Given the description of an element on the screen output the (x, y) to click on. 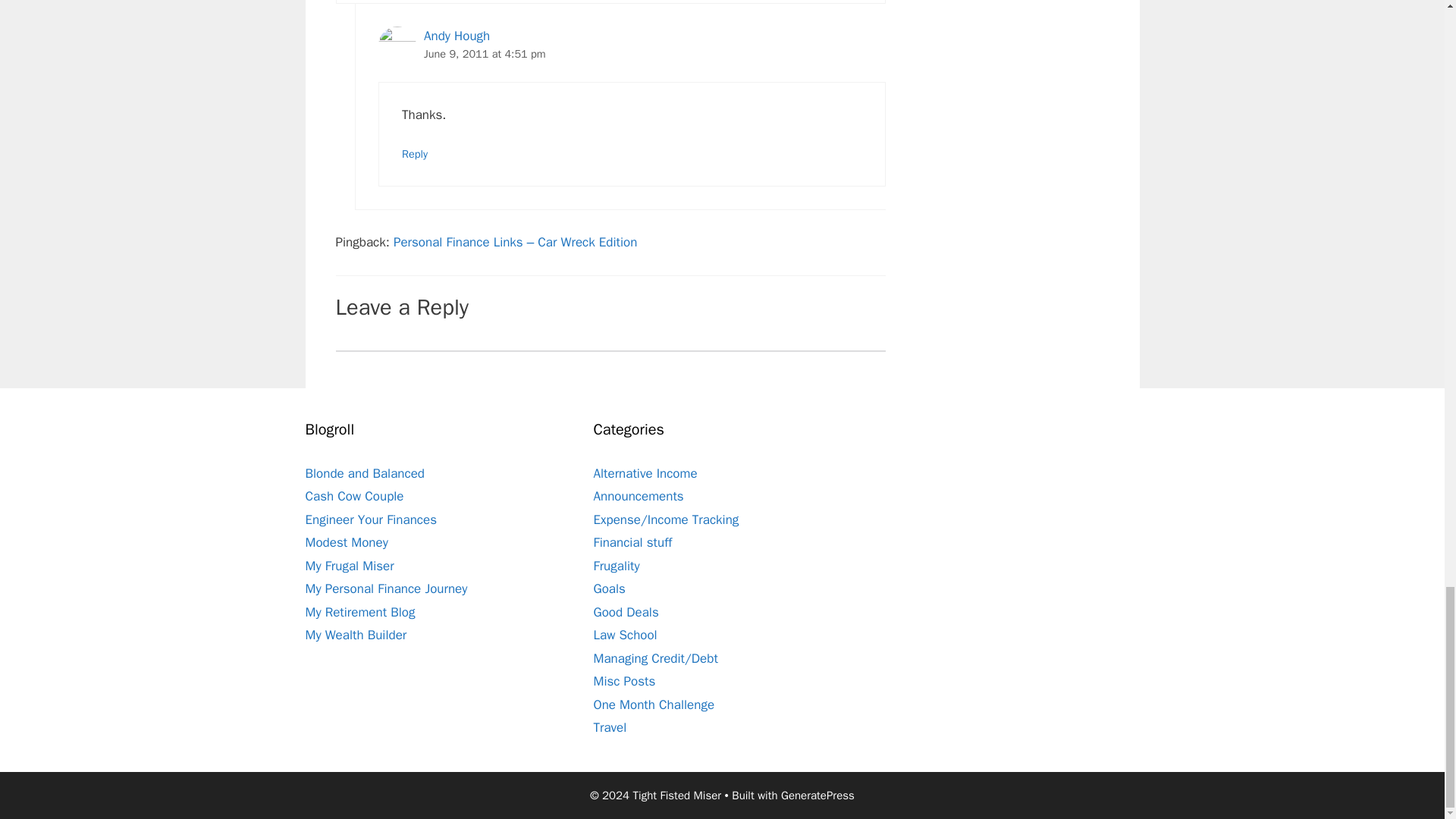
Andy Hough (456, 35)
June 9, 2011 at 4:51 pm (484, 53)
Reply (414, 153)
